Given the description of an element on the screen output the (x, y) to click on. 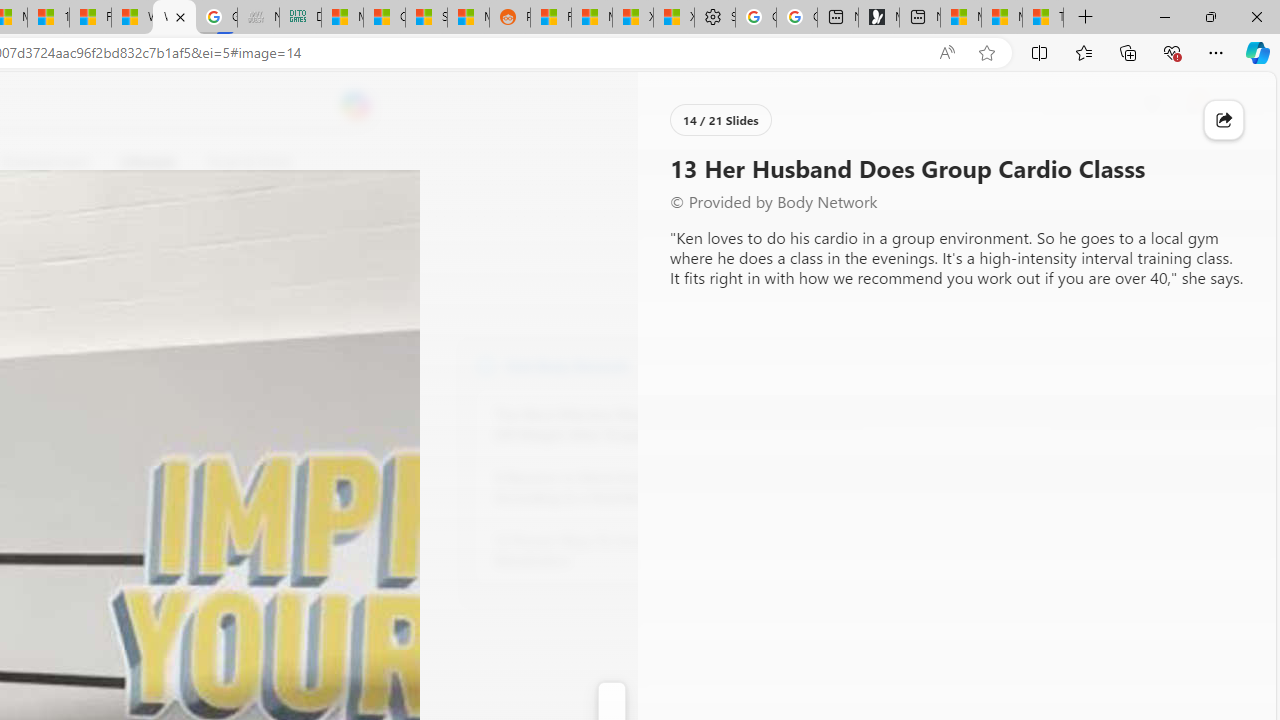
DITOGAMES AG Imprint (300, 17)
Microsoft Start (1001, 17)
R******* | Trusted Community Engagement and Contributions (550, 17)
8 Reasons to Drink Kombucha, According to a Nutritionist (603, 488)
